Given the description of an element on the screen output the (x, y) to click on. 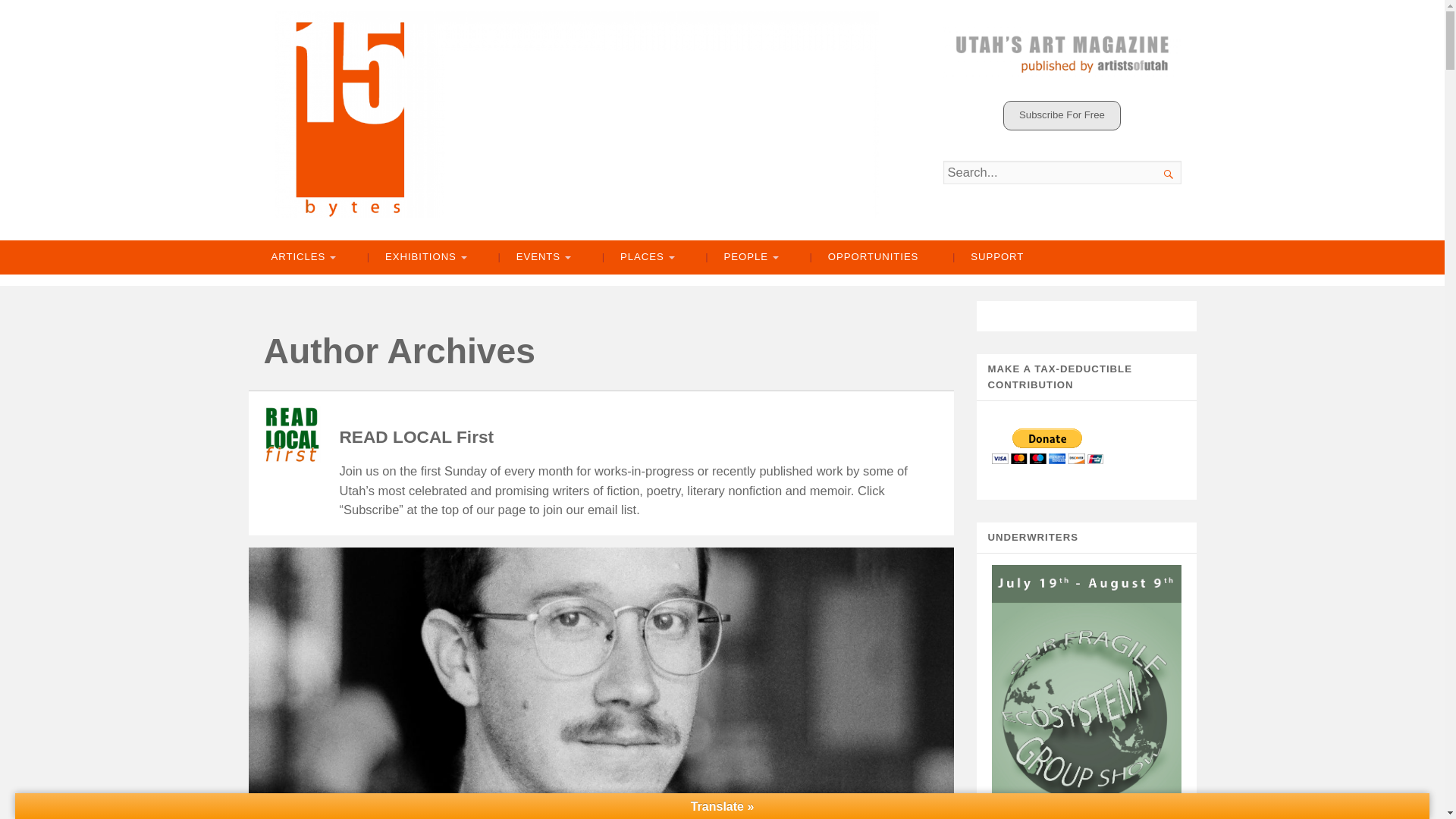
Subscribe For Free (1062, 114)
EXHIBITIONS (415, 257)
SUPPORT (988, 257)
PEOPLE (740, 257)
EVENTS (532, 257)
PLACES (636, 257)
ARTICLES (302, 257)
OPPORTUNITIES (864, 257)
